Given the description of an element on the screen output the (x, y) to click on. 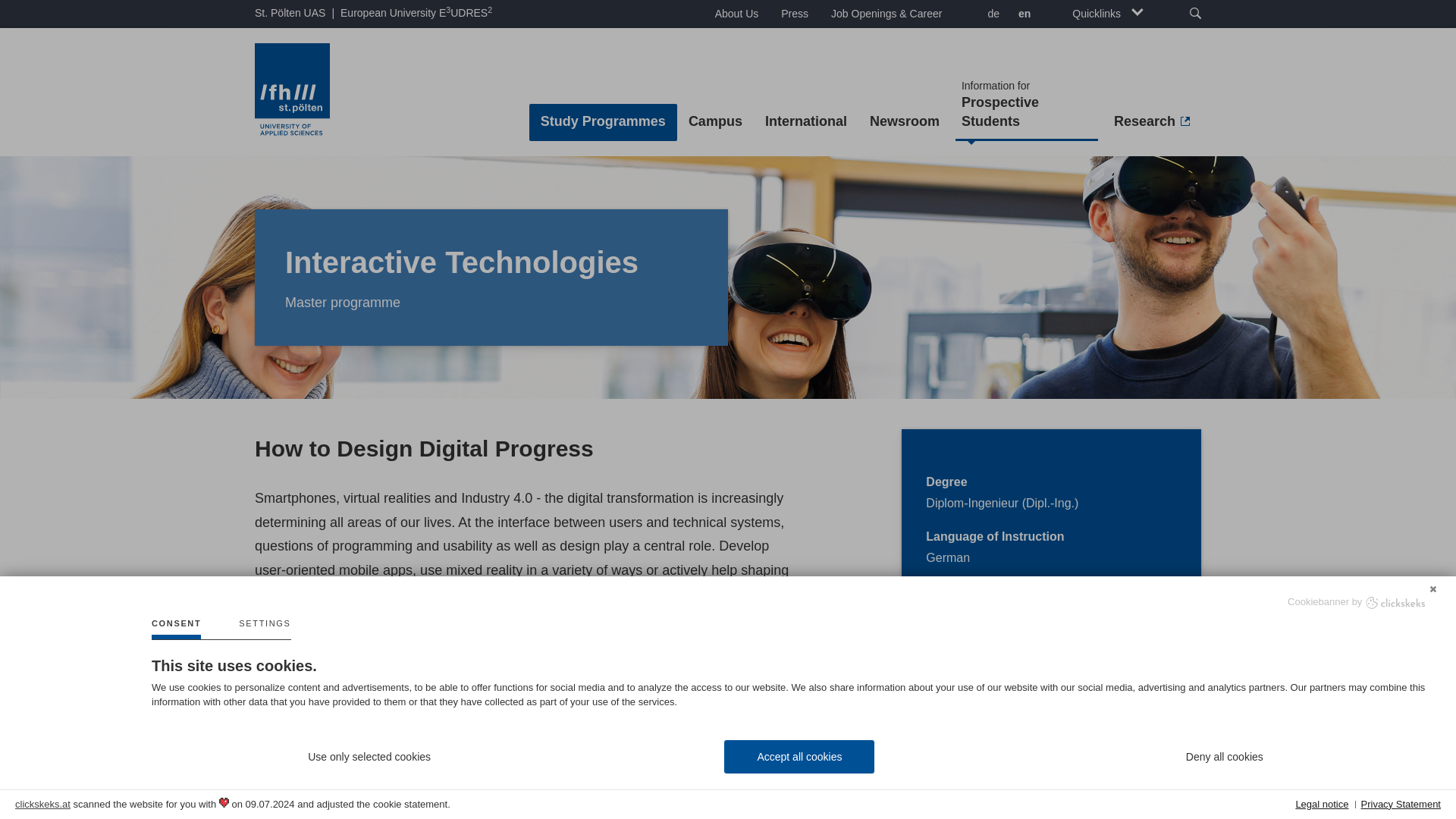
Unterrichtssprache (322, 706)
Clickskeks Logo (1395, 603)
Clickskeks (1395, 602)
de (991, 14)
clickskeks.at (41, 803)
Quicklinks (1107, 14)
Study Programmes (603, 122)
Press (1026, 105)
Newsroom (794, 14)
Research (904, 122)
European University E3UDRES2 (1151, 122)
Campus (416, 12)
Deutsch (715, 122)
